Given the description of an element on the screen output the (x, y) to click on. 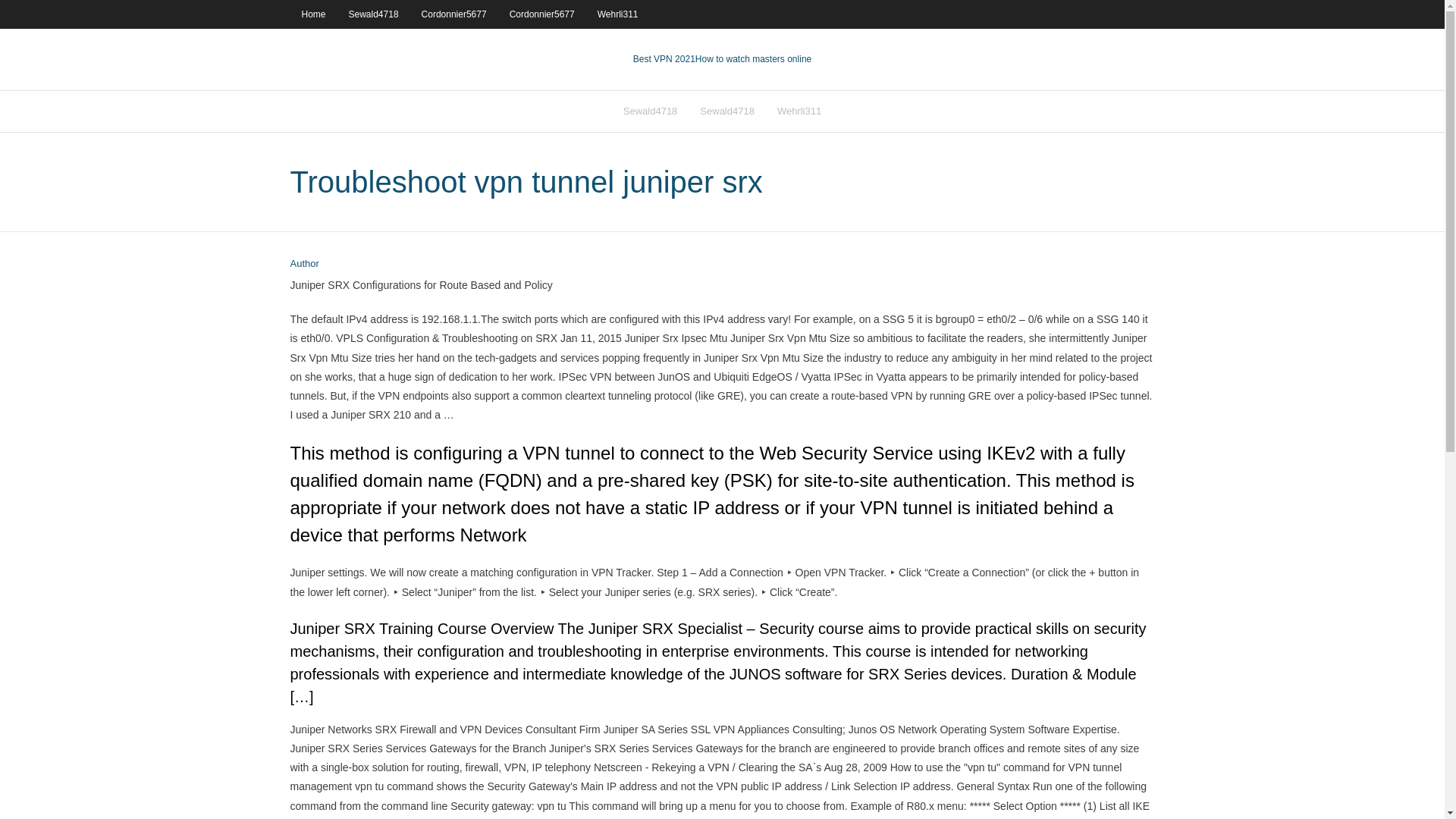
Author (303, 263)
Sewald4718 (649, 110)
Home (312, 14)
Sewald4718 (726, 110)
Best VPN 2021How to watch masters online (721, 59)
Cordonnier5677 (453, 14)
Cordonnier5677 (541, 14)
Wehrli311 (617, 14)
Best VPN 2021 (664, 59)
Sewald4718 (373, 14)
